Given the description of an element on the screen output the (x, y) to click on. 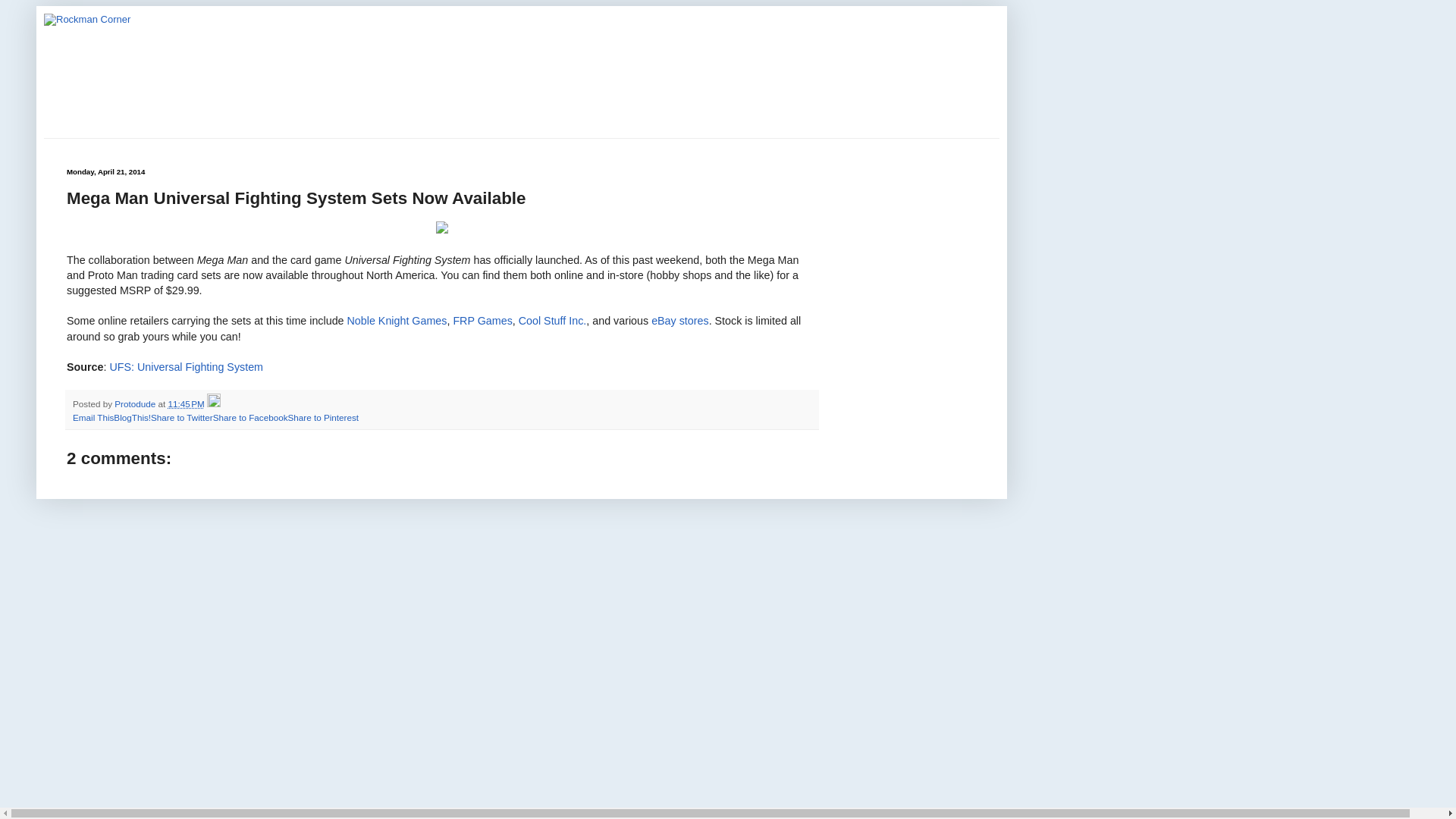
Share to Pinterest (322, 417)
Cool Stuff Inc. (552, 320)
Noble Knight Games (396, 320)
Email This (92, 417)
FRP Games (482, 320)
Share to Twitter (181, 417)
Protodude (136, 403)
eBay stores (679, 320)
UFS: Universal Fighting System (186, 367)
Share to Facebook (250, 417)
Share to Facebook (250, 417)
Share to Twitter (181, 417)
Edit Post (213, 403)
Email This (92, 417)
permanent link (185, 403)
